Given the description of an element on the screen output the (x, y) to click on. 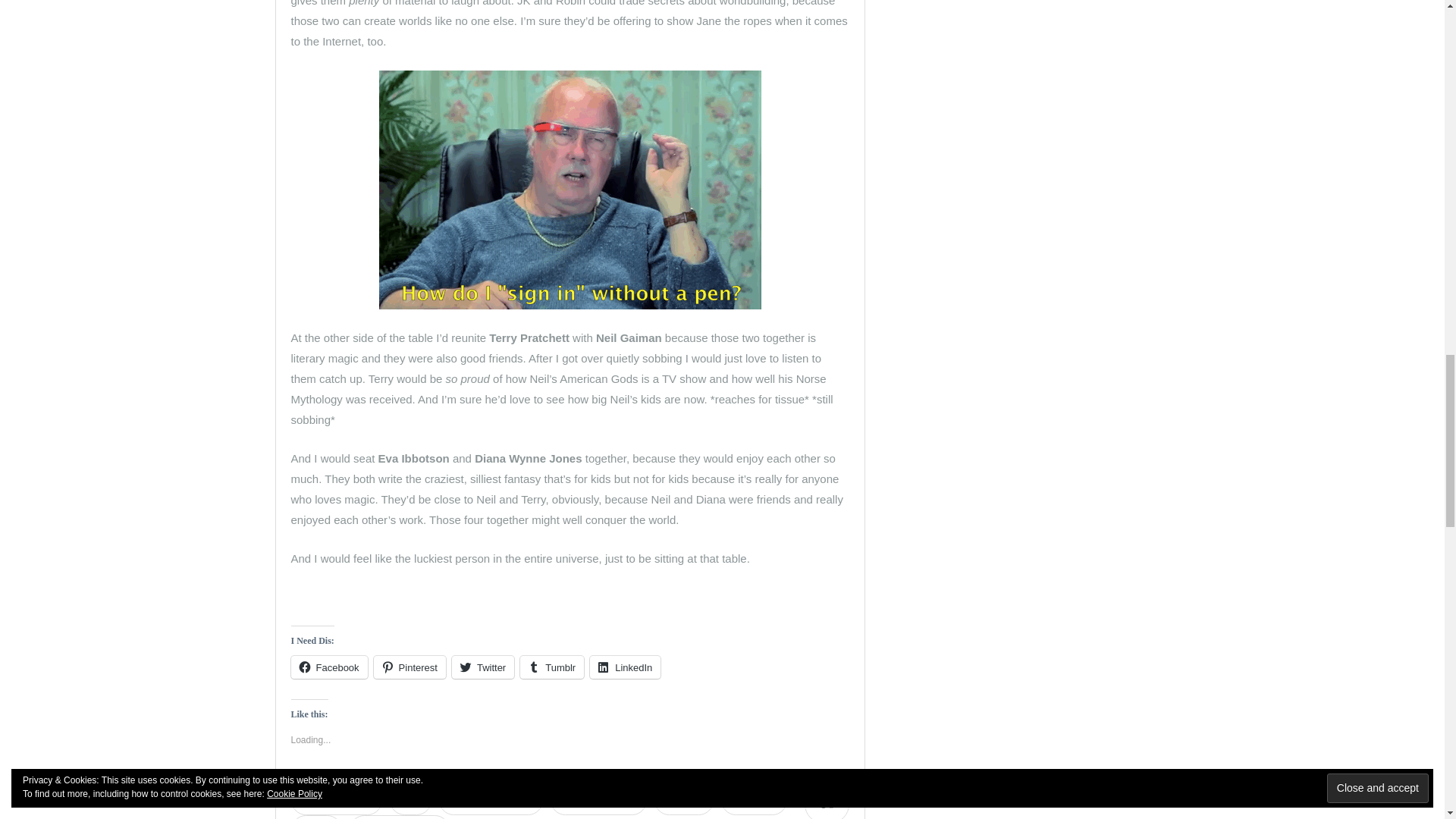
Bookworms unite (491, 799)
LinkedIn (625, 667)
Twitter (482, 667)
Facebook (329, 667)
constant reader (598, 799)
top ten tuesdays (399, 816)
Click to share on Facebook (329, 667)
Top 10 (316, 816)
Tumblr (551, 667)
Click to share on Tumblr (551, 667)
